Given the description of an element on the screen output the (x, y) to click on. 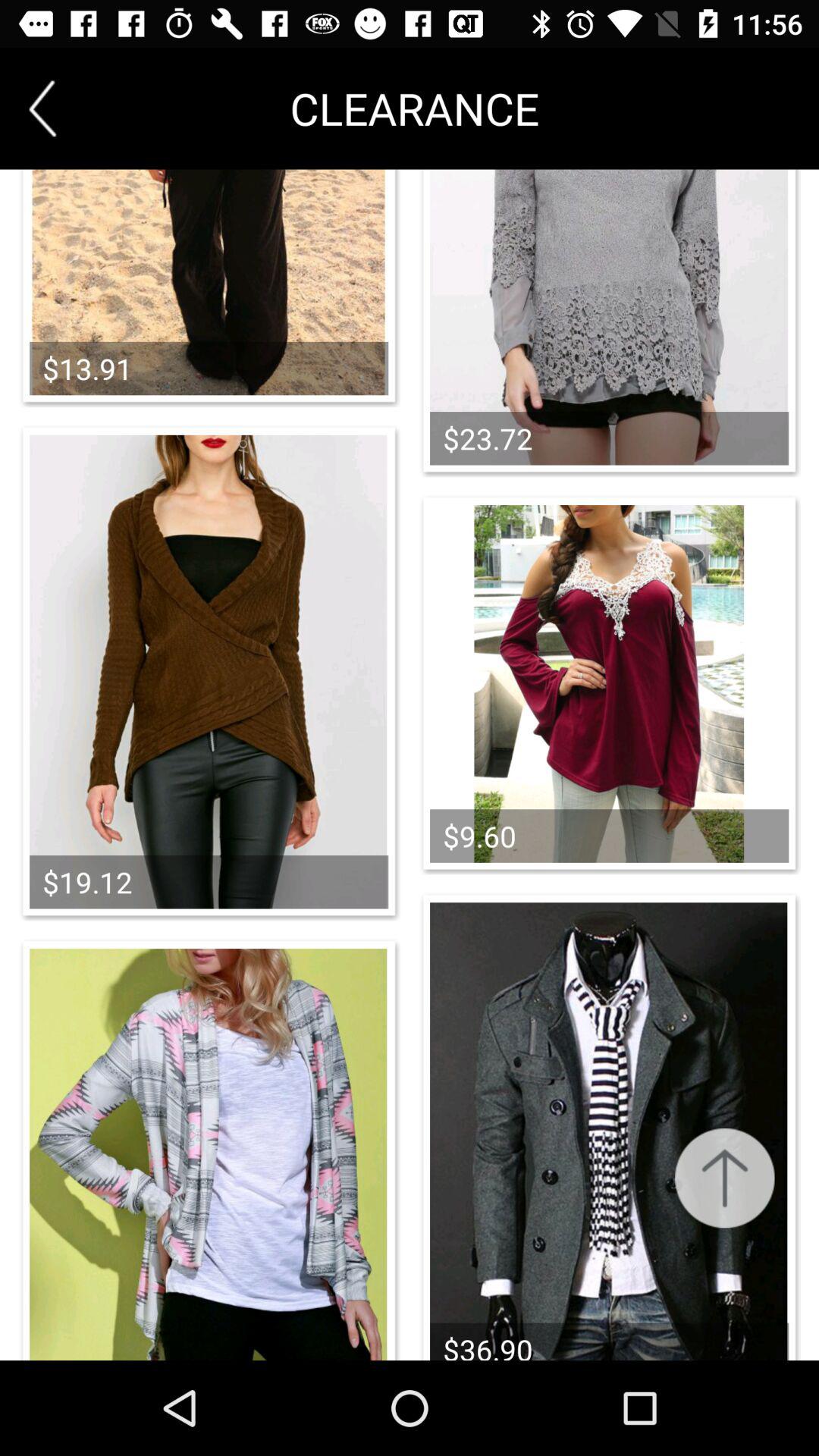
go back (42, 108)
